Given the description of an element on the screen output the (x, y) to click on. 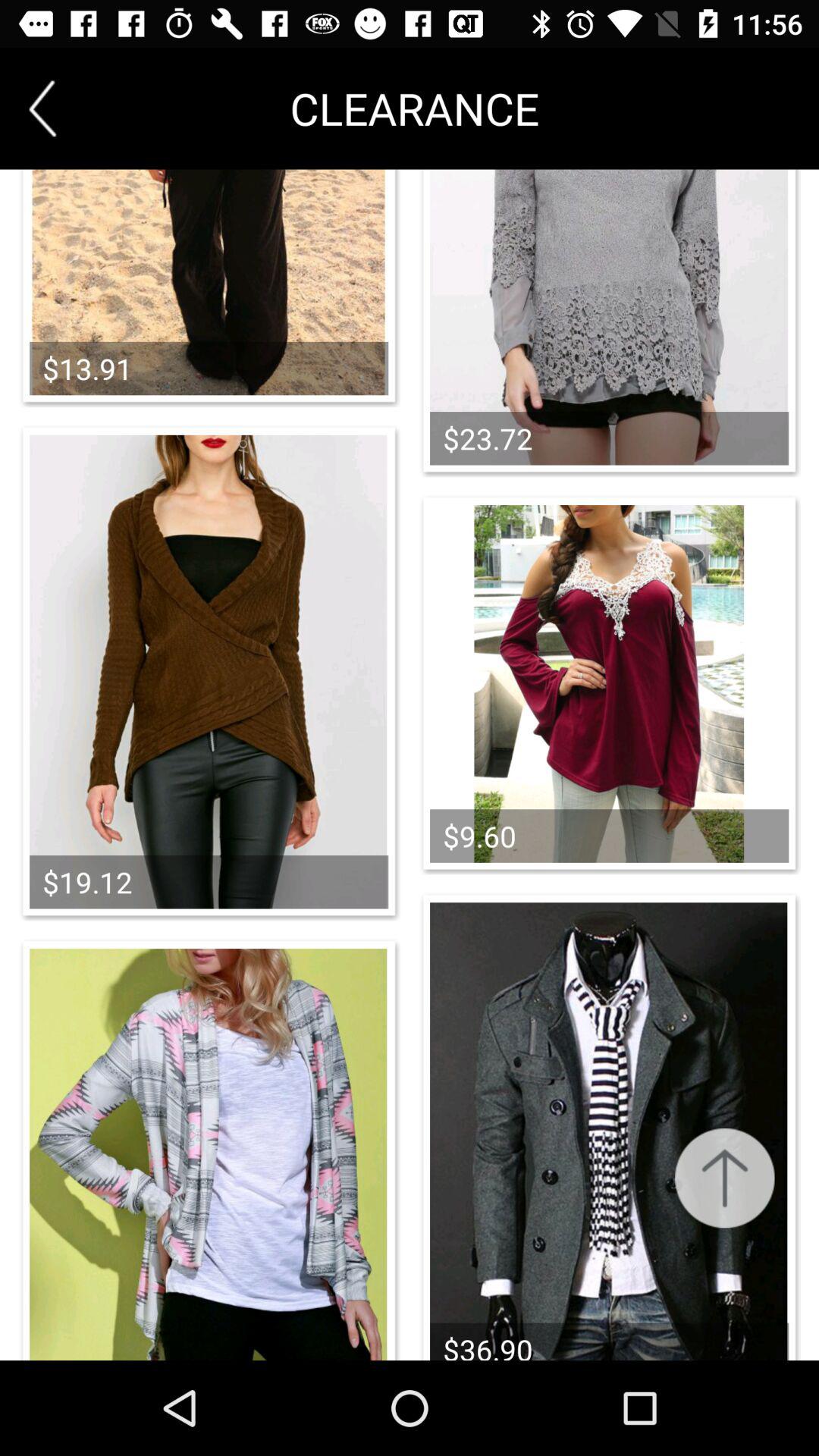
go back (42, 108)
